Given the description of an element on the screen output the (x, y) to click on. 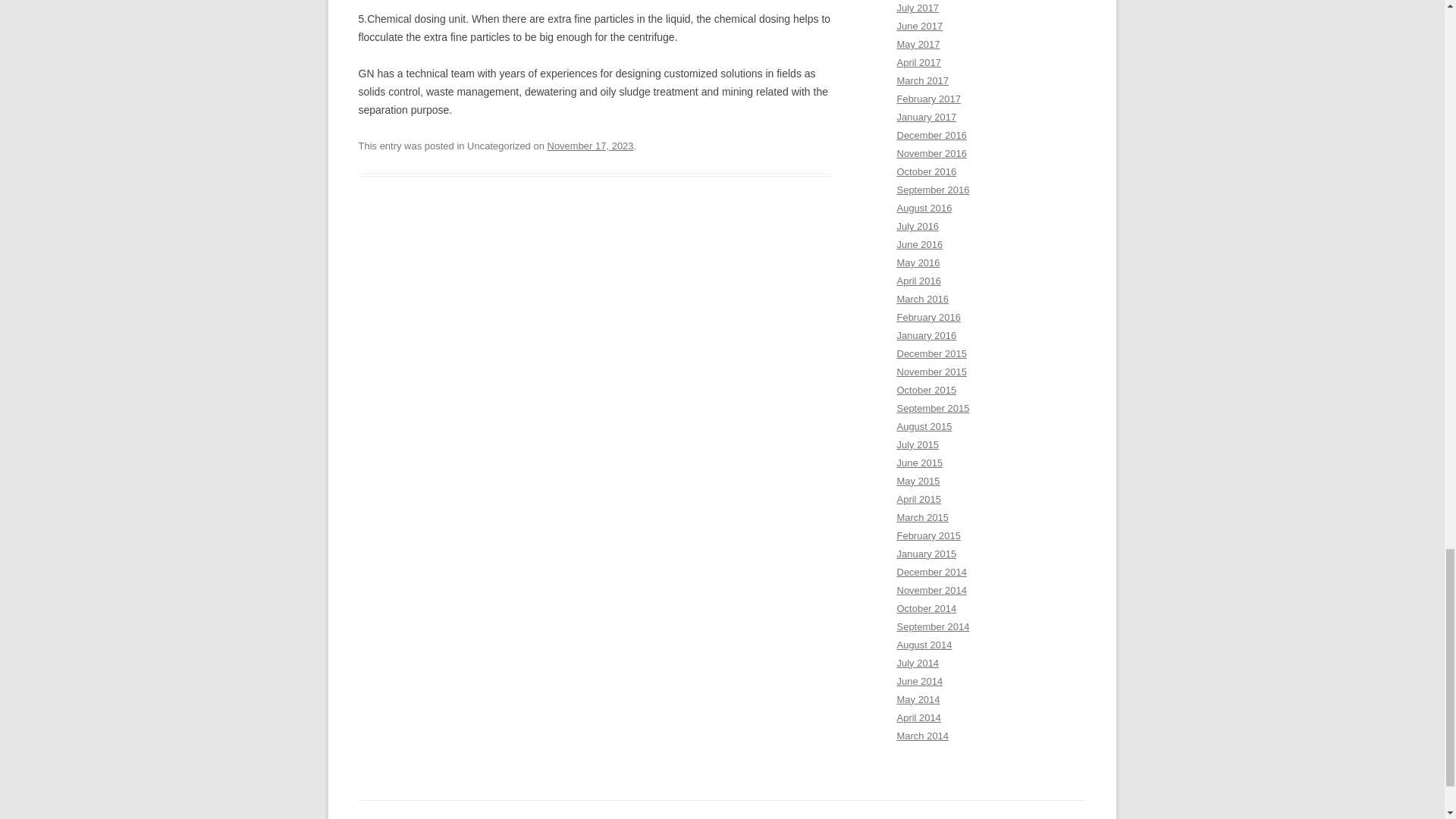
1:05 am (590, 145)
November 17, 2023 (590, 145)
